Given the description of an element on the screen output the (x, y) to click on. 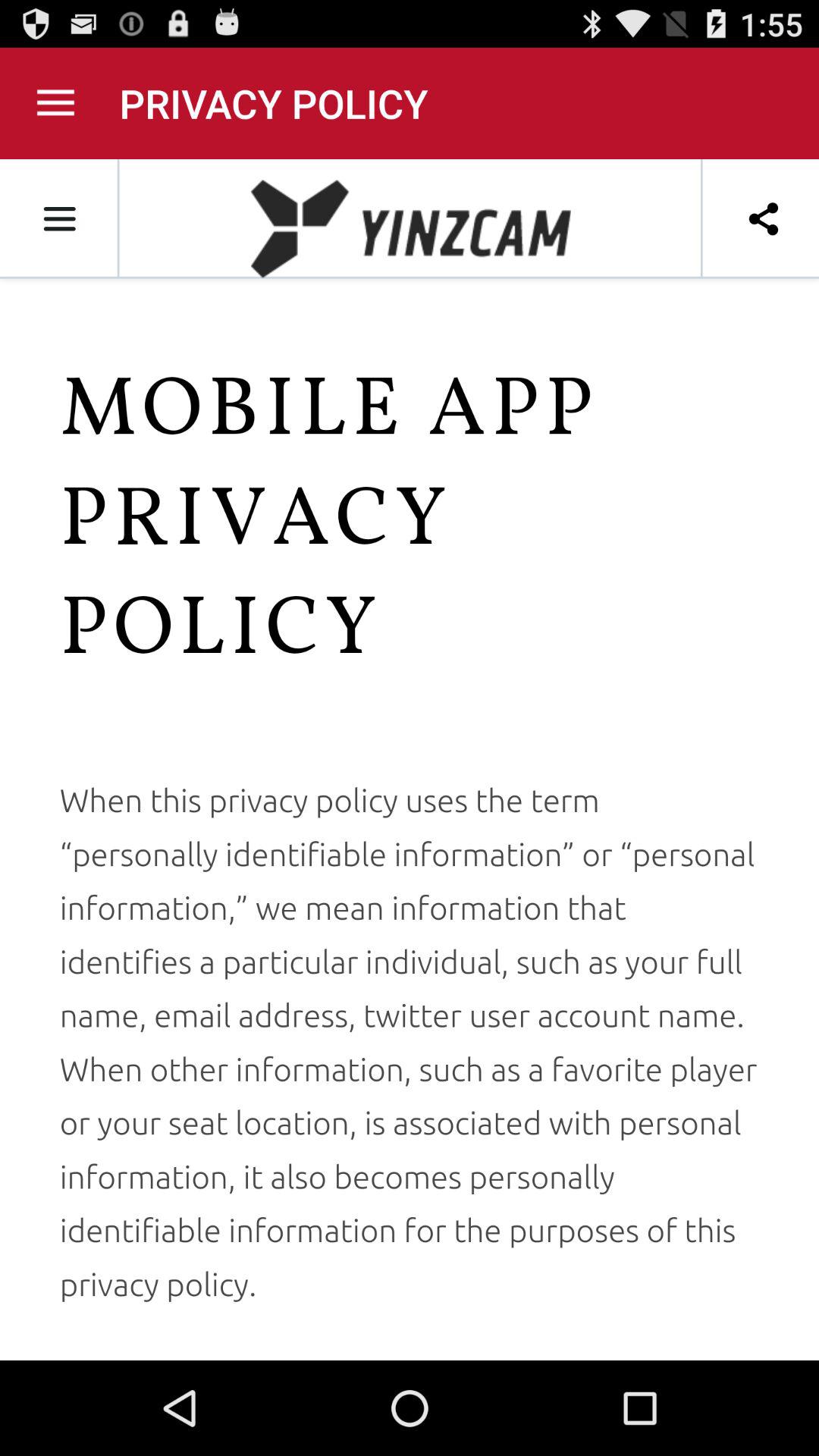
menu icon (55, 103)
